Given the description of an element on the screen output the (x, y) to click on. 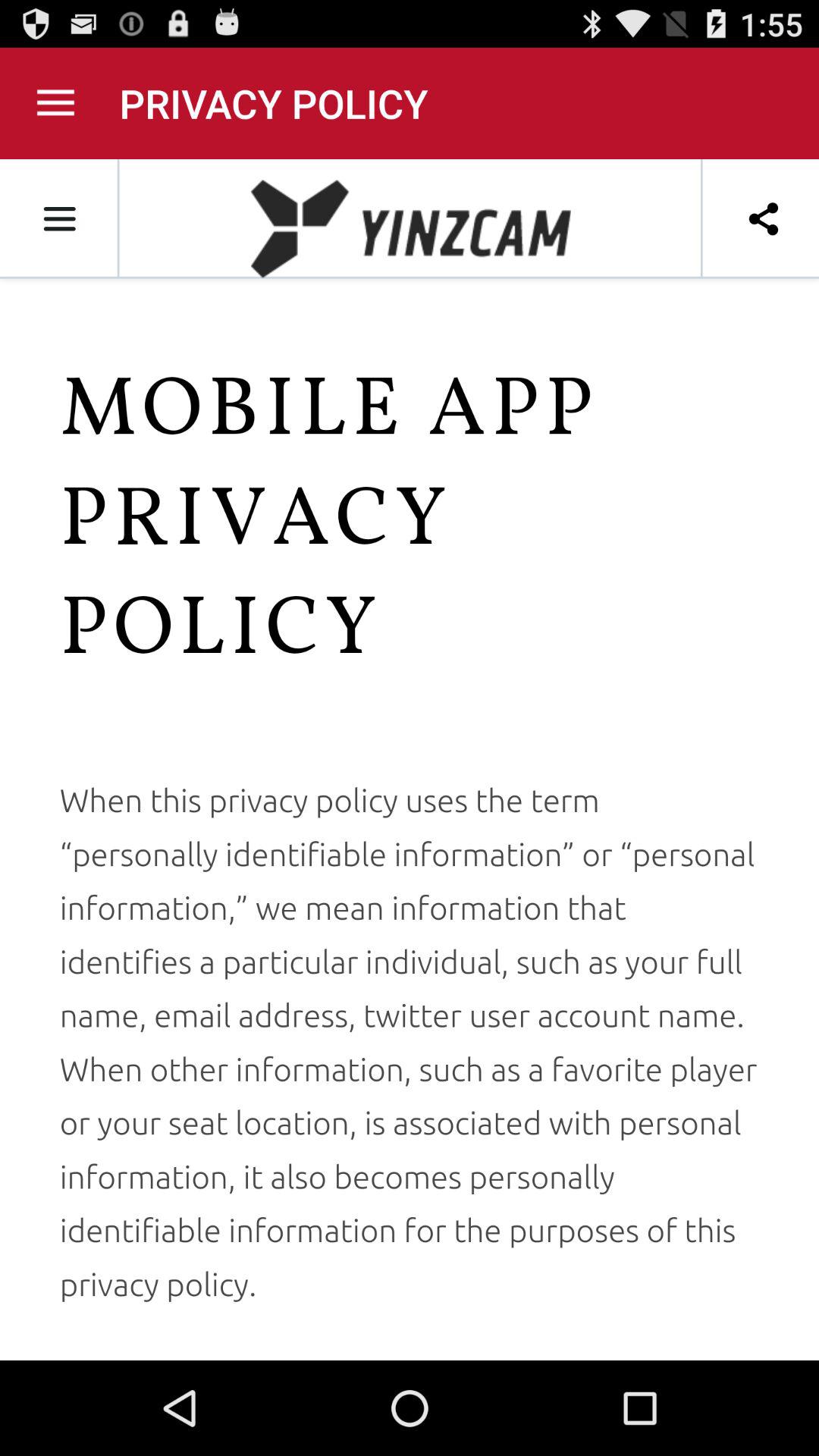
menu icon (55, 103)
